Given the description of an element on the screen output the (x, y) to click on. 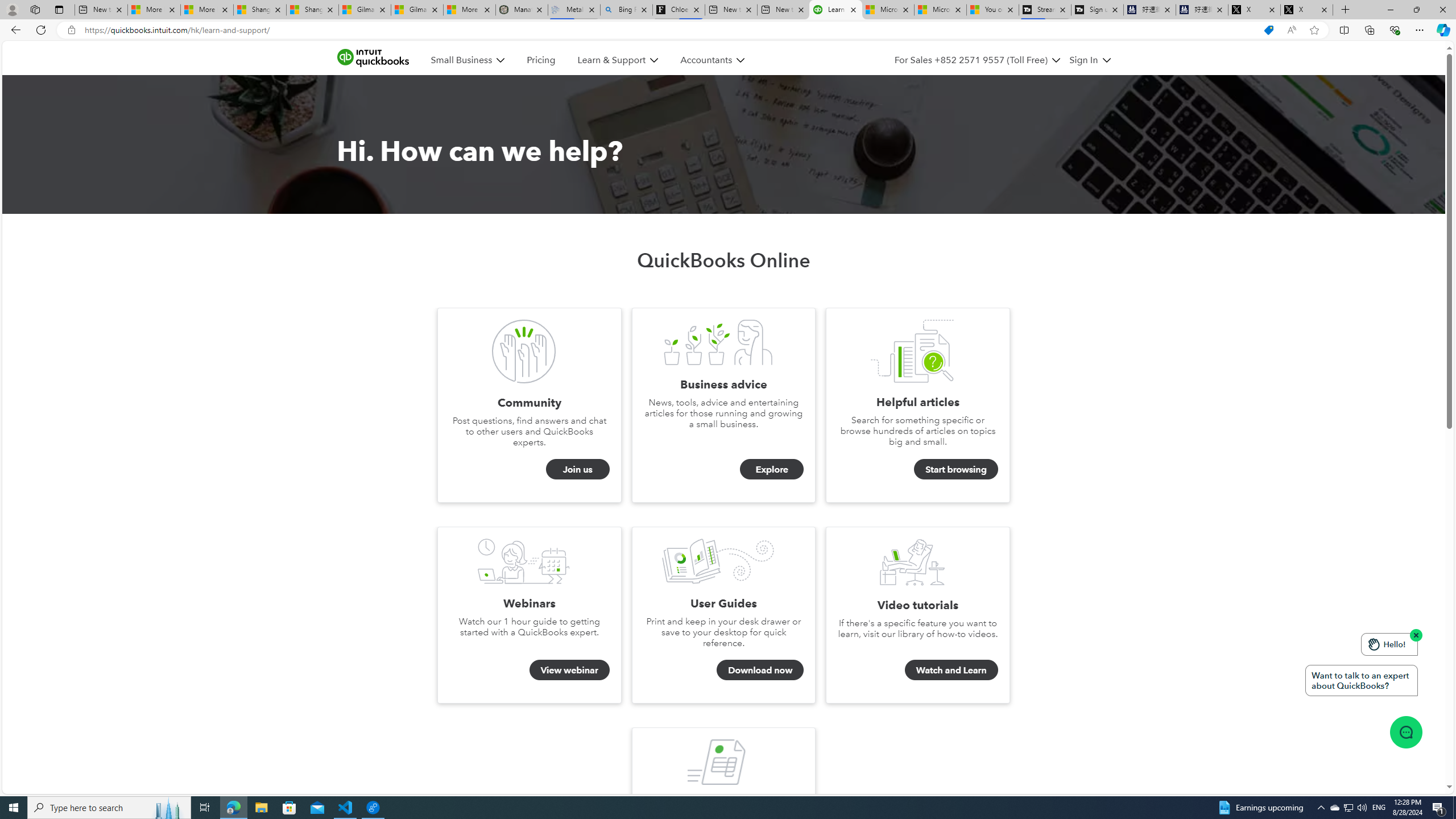
Invoice Template (717, 761)
Shopping in Microsoft Edge (1268, 29)
Learn and Support | QuickBooks Hong Kong (835, 9)
Business advice (717, 342)
Watch and Learn (911, 561)
Learn & Support (611, 60)
Webinars (523, 560)
Image Alt Text (723, 144)
Chloe Sorvino (678, 9)
Class: message-icon_img-desktop (1405, 731)
Helpful articles (911, 350)
